Given the description of an element on the screen output the (x, y) to click on. 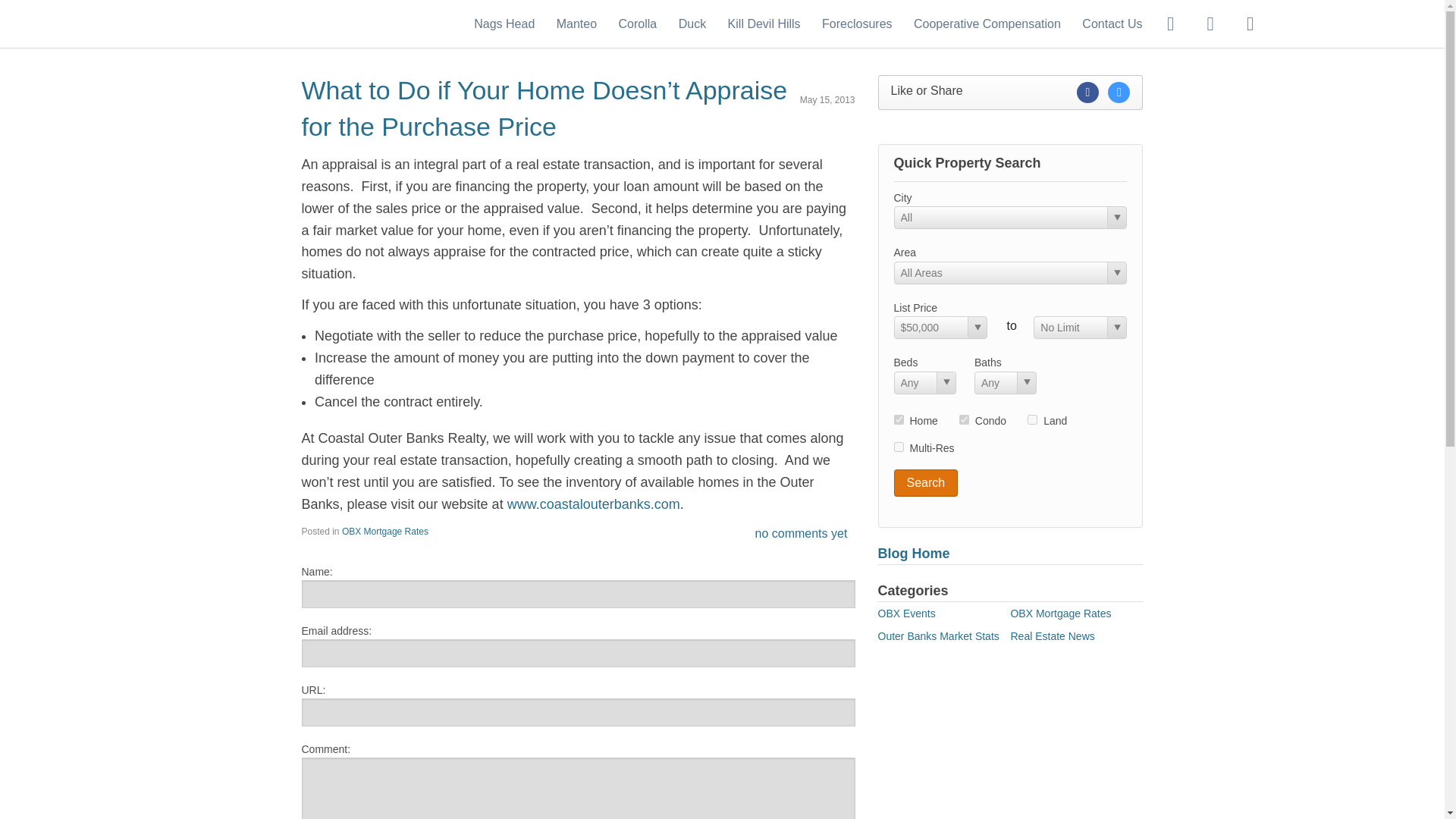
Duck (692, 23)
con (964, 419)
res (897, 419)
Real Estate News (1052, 635)
lnd (1031, 419)
Cooperative Compensation (987, 23)
OBX Events (906, 613)
Corolla (638, 23)
Foreclosures (856, 23)
Like or Share (1009, 92)
